Given the description of an element on the screen output the (x, y) to click on. 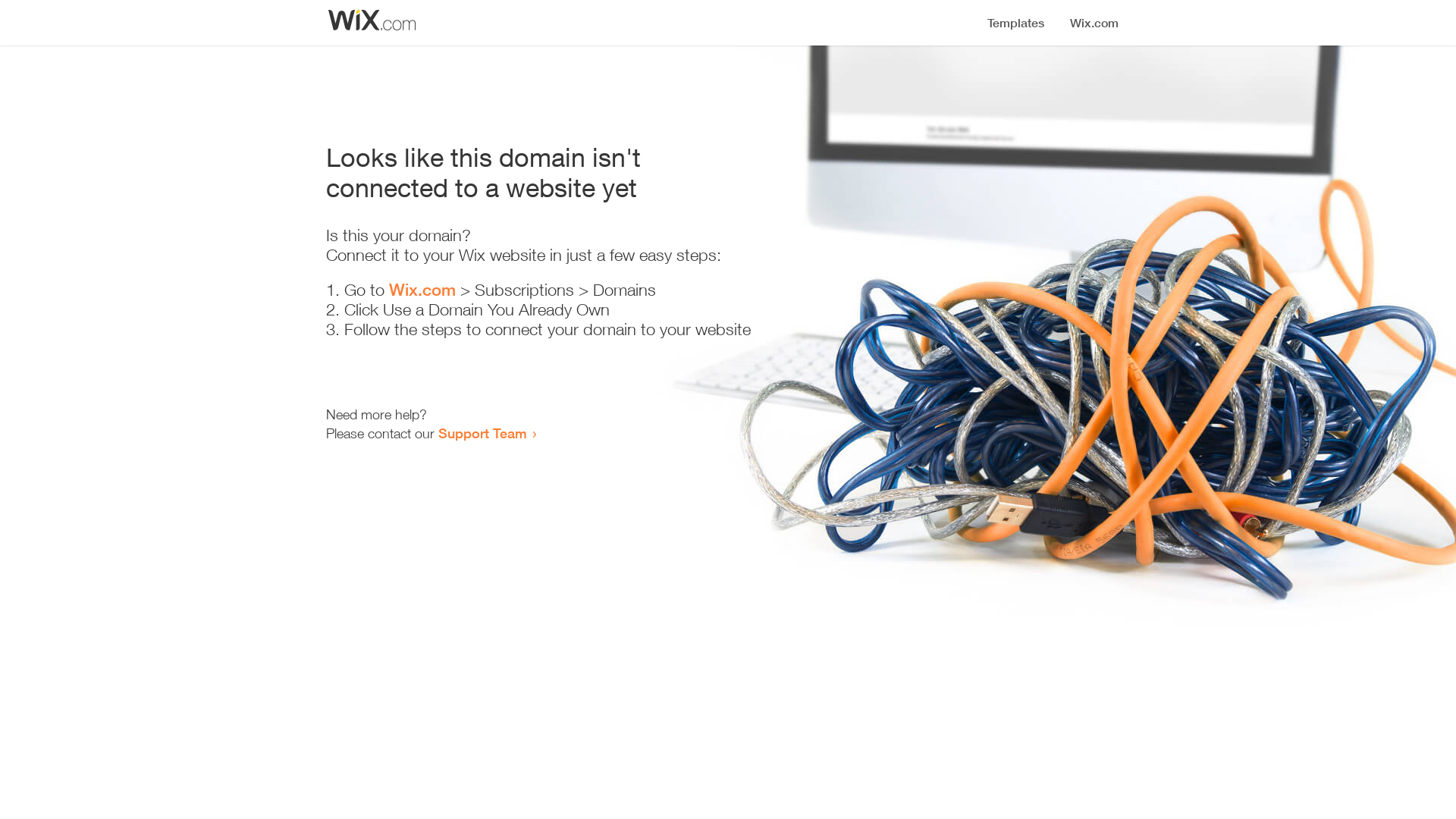
Support Team Element type: text (482, 432)
Wix.com Element type: text (422, 289)
